Given the description of an element on the screen output the (x, y) to click on. 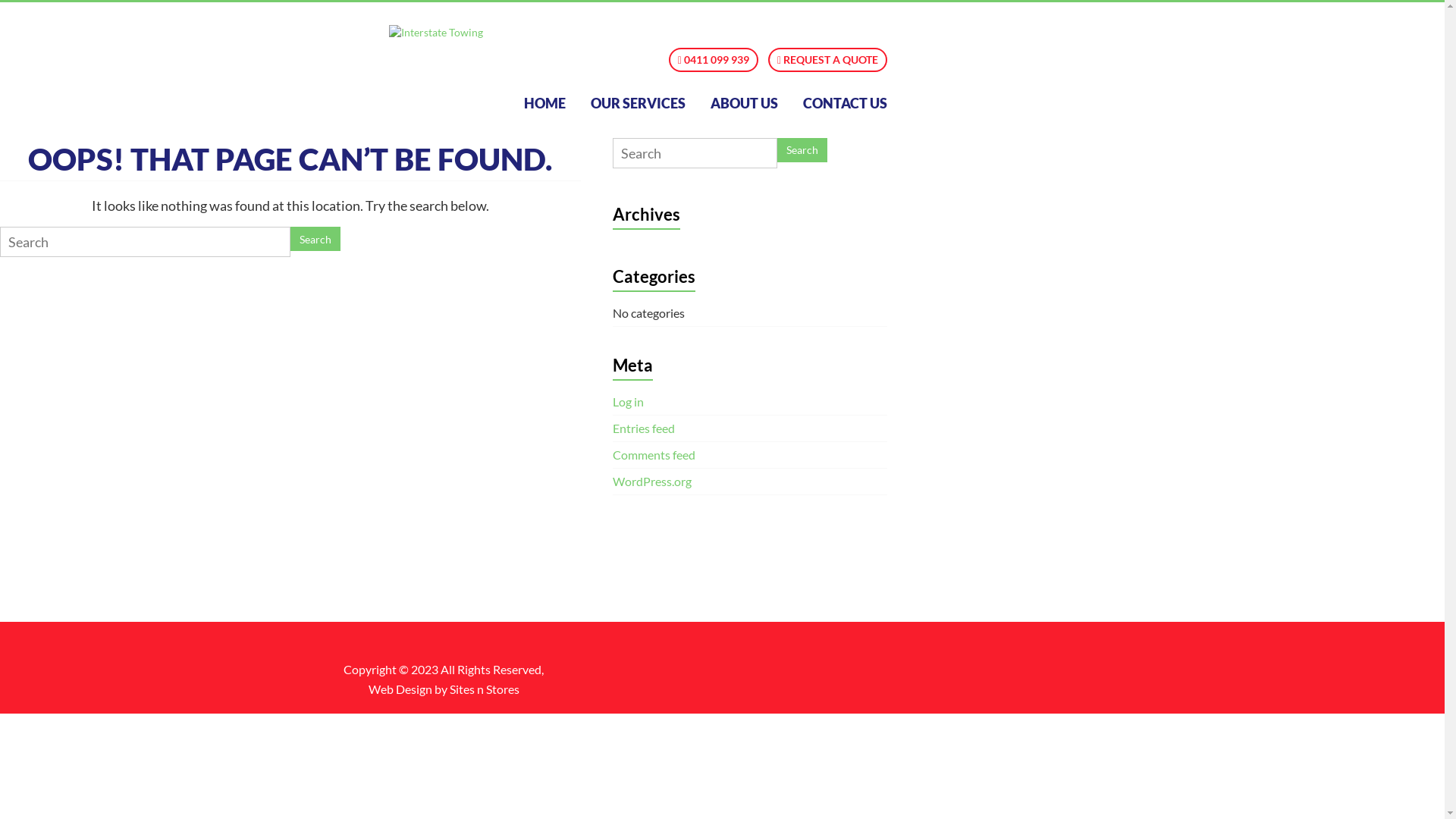
CONTACT US Element type: text (845, 103)
Entries feed Element type: text (643, 427)
Log in Element type: text (627, 401)
Comments feed Element type: text (653, 454)
HOME Element type: text (544, 103)
ABOUT US Element type: text (744, 103)
Web Design Element type: text (400, 688)
Search Element type: text (315, 238)
Search Element type: text (802, 150)
OUR SERVICES Element type: text (637, 103)
REQUEST A QUOTE Element type: text (827, 59)
0411 099 939 Element type: text (713, 59)
WordPress.org Element type: text (651, 480)
